Given the description of an element on the screen output the (x, y) to click on. 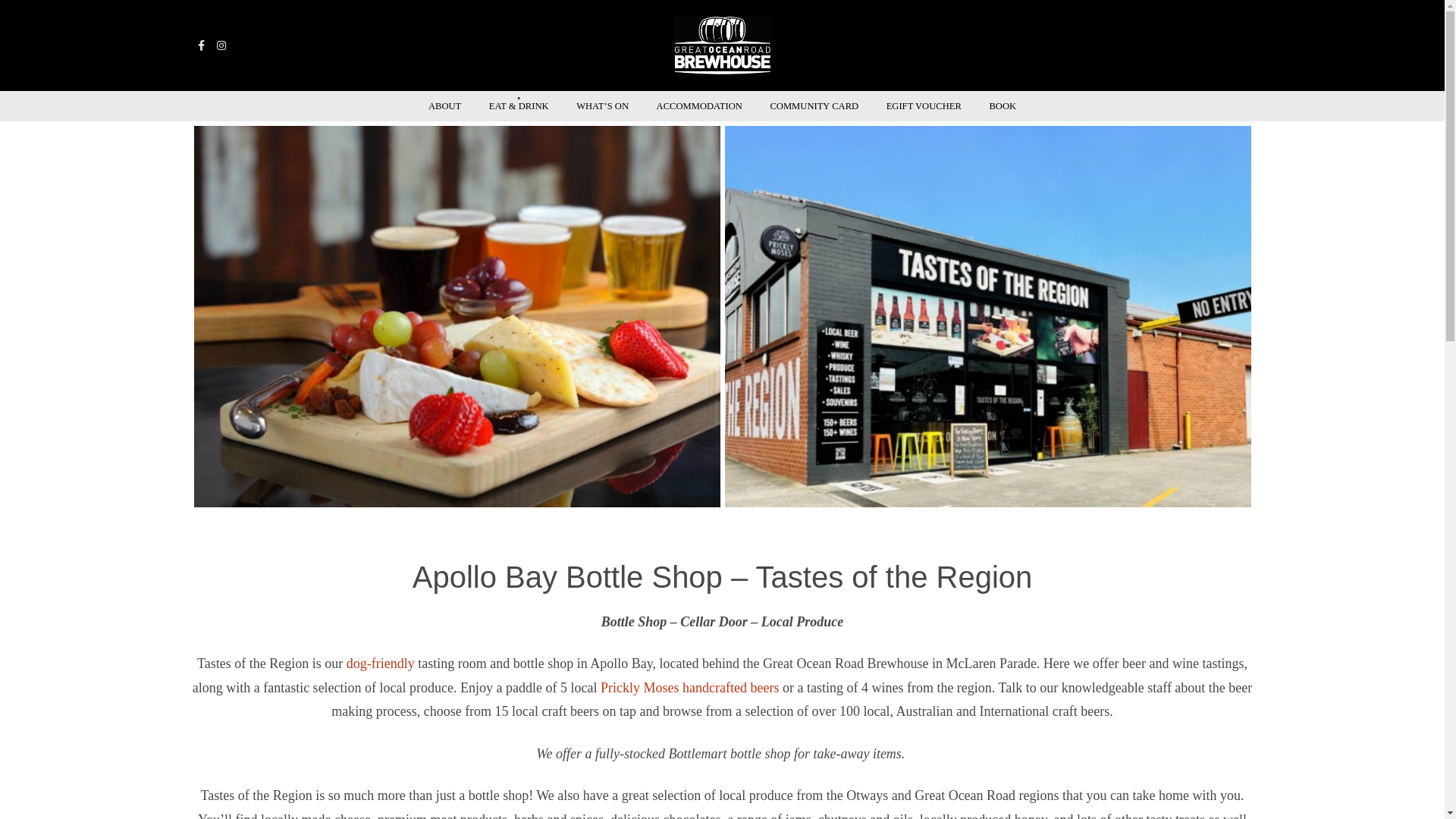
Skip to content Element type: text (721, 90)
COMMUNITY CARD Element type: text (813, 106)
ACCOMMODATION Element type: text (699, 106)
Instagram Element type: hover (221, 45)
Facebook Element type: hover (200, 45)
dog-friendly Element type: text (380, 663)
Great Ocean Road Brewhouse Element type: hover (721, 45)
EAT & DRINK Element type: text (518, 106)
BOOK Element type: text (1002, 106)
ABOUT Element type: text (444, 106)
Prickly Moses handcrafted beers Element type: text (689, 687)
EGIFT VOUCHER Element type: text (923, 106)
